Given the description of an element on the screen output the (x, y) to click on. 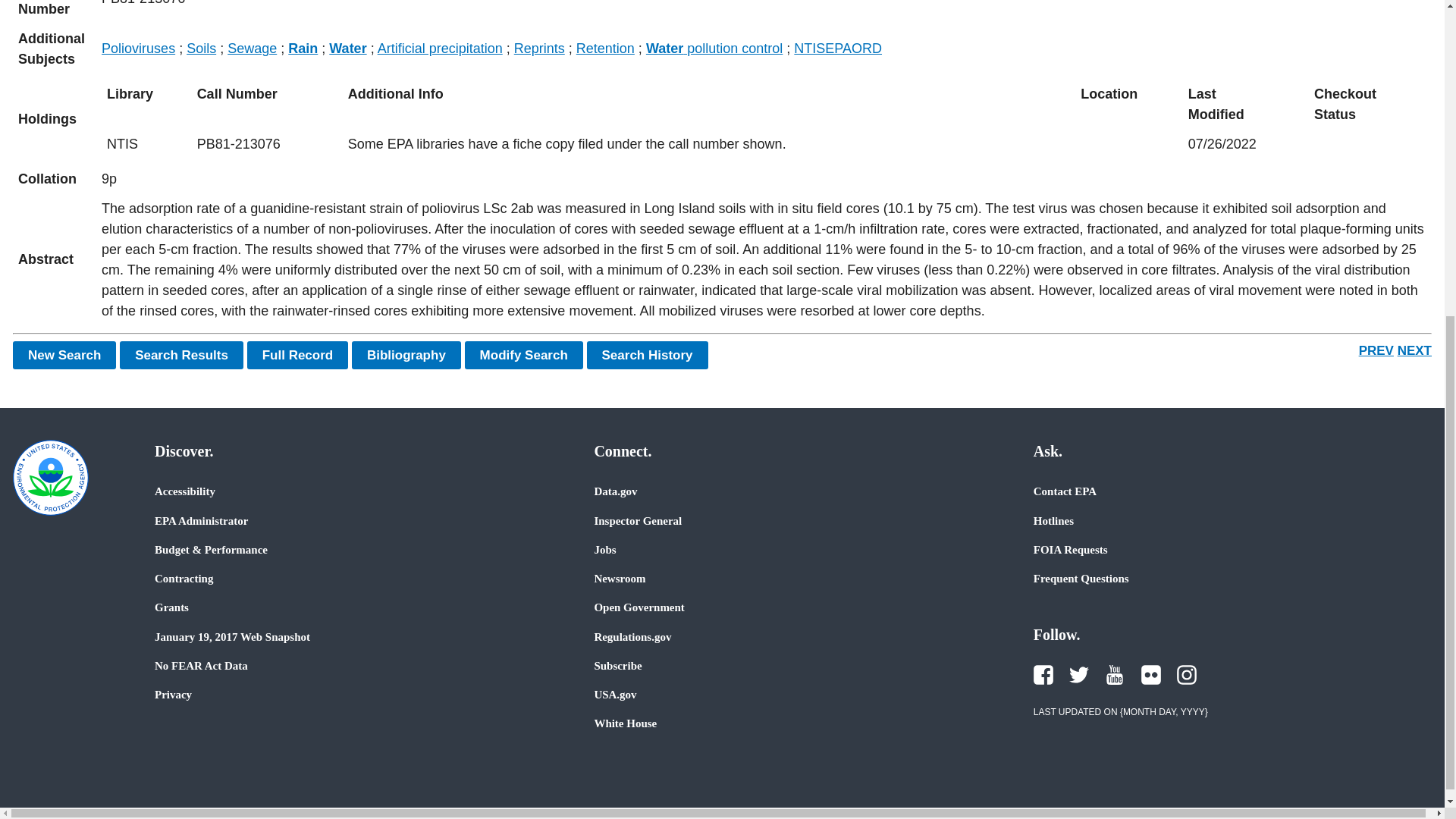
Modify Search (523, 355)
NTISEPAORD (837, 48)
January 19, 2017 Web Snapshot (232, 636)
PREV (1375, 350)
Data.gov (615, 490)
Grants (171, 607)
Contracting (183, 578)
Rain (302, 48)
EPA Administrator (200, 520)
Reprints (538, 48)
Inspector General (637, 520)
Water (347, 48)
Accessibility (184, 490)
Soils (200, 48)
Search History (646, 355)
